Given the description of an element on the screen output the (x, y) to click on. 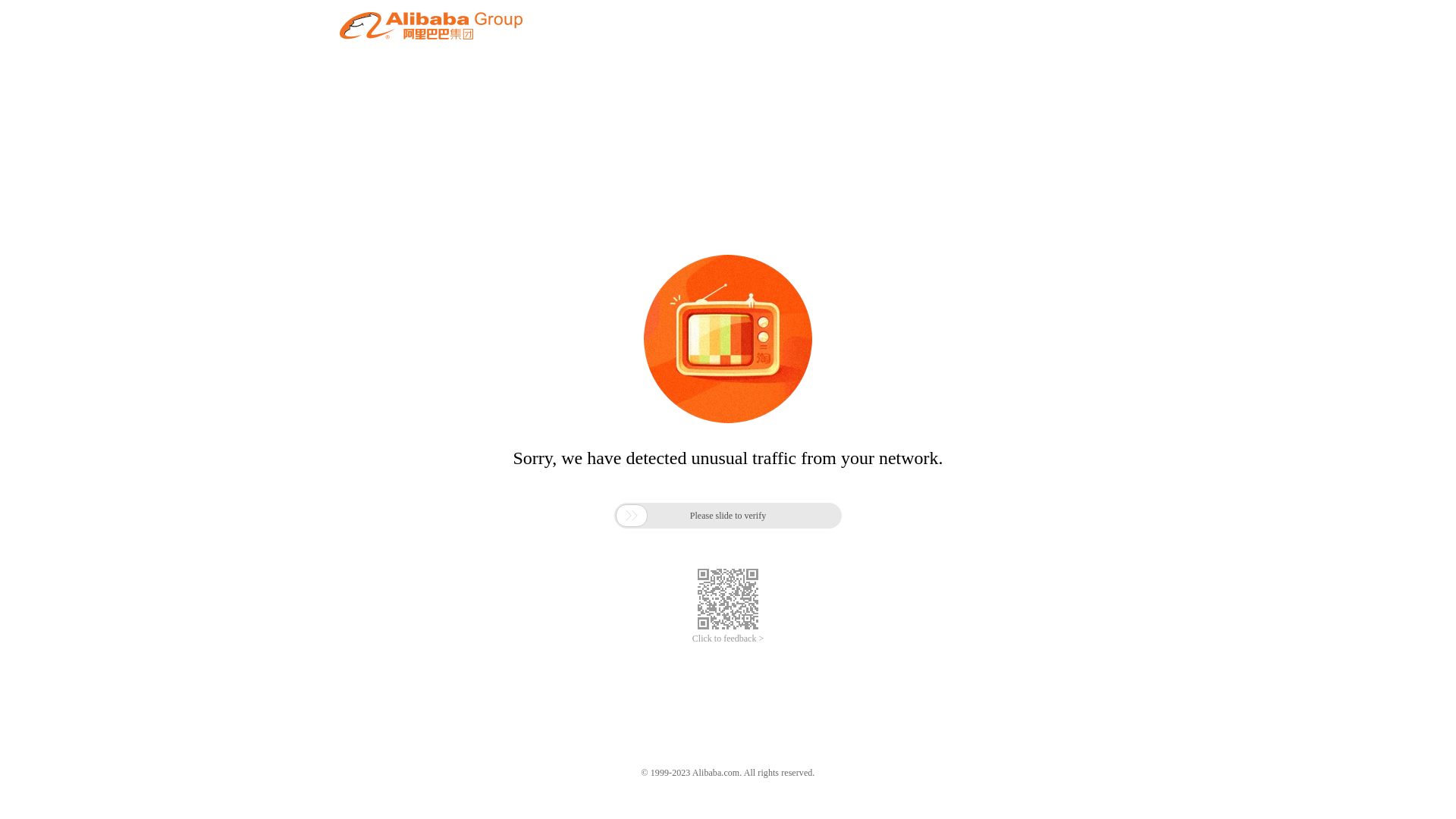
Click to feedback > Element type: text (727, 638)
